Given the description of an element on the screen output the (x, y) to click on. 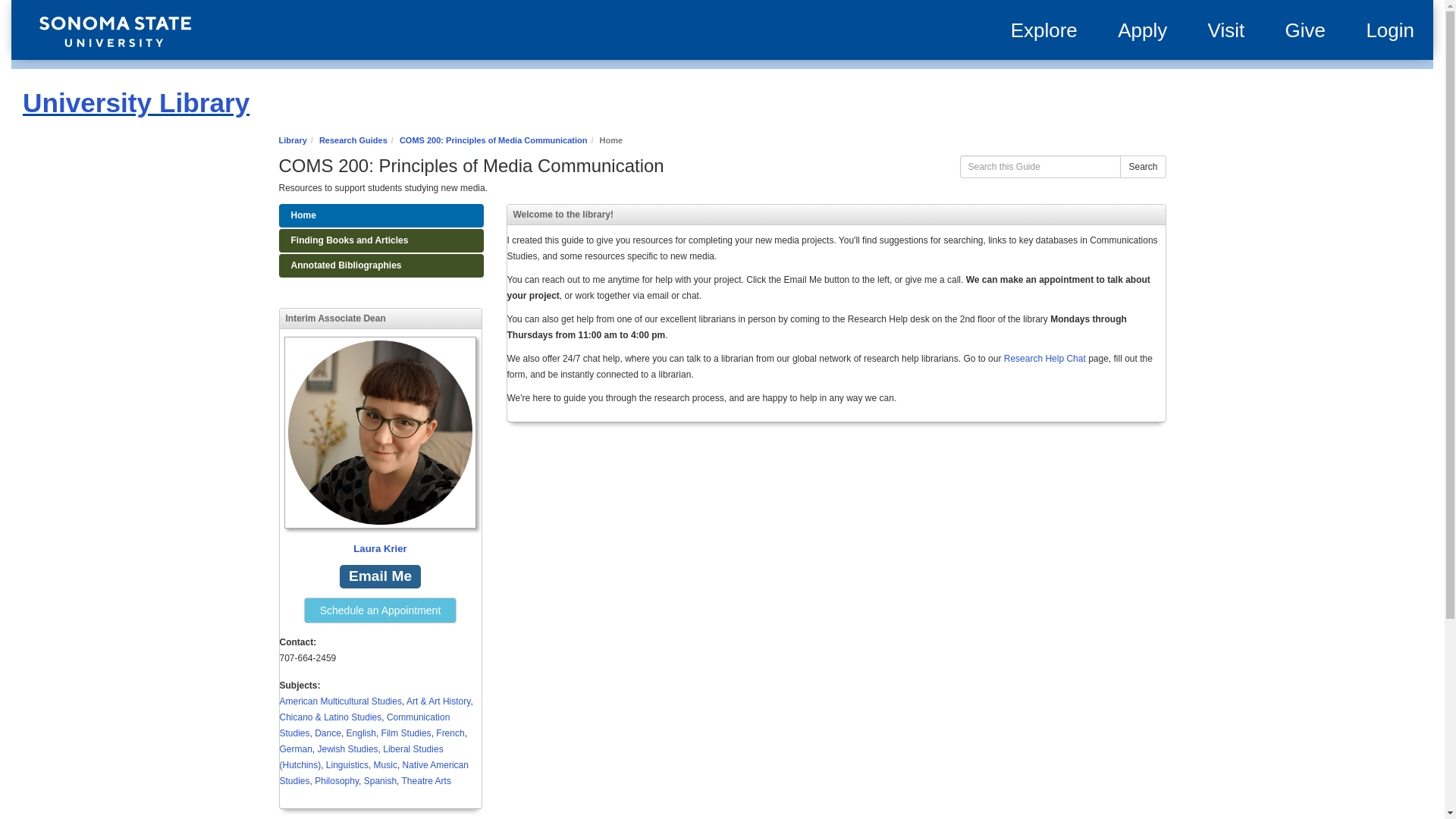
German (295, 748)
Philosophy (336, 780)
University Library (135, 102)
Research Guides (352, 139)
English (360, 733)
Email Me (379, 576)
Film Studies (405, 733)
Linguistics (347, 765)
Theatre Arts (426, 780)
American Multicultural Studies (340, 701)
